Given the description of an element on the screen output the (x, y) to click on. 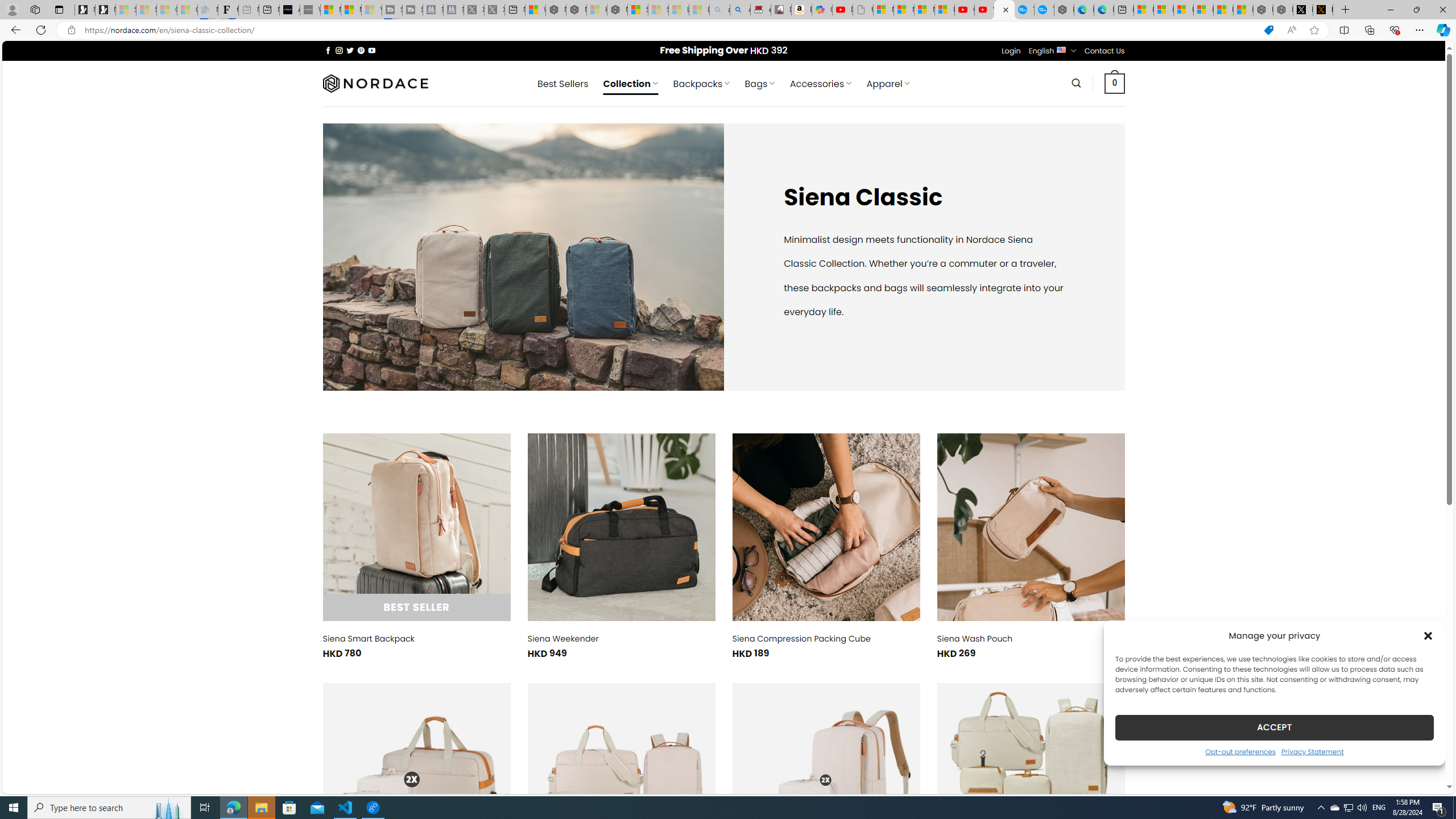
Contact Us (1104, 50)
Class: cmplz-close (1428, 635)
AI Voice Changer for PC and Mac - Voice.ai (289, 9)
Login (1010, 50)
ACCEPT (1274, 727)
Microsoft account | Microsoft Account Privacy Settings (1162, 9)
